Given the description of an element on the screen output the (x, y) to click on. 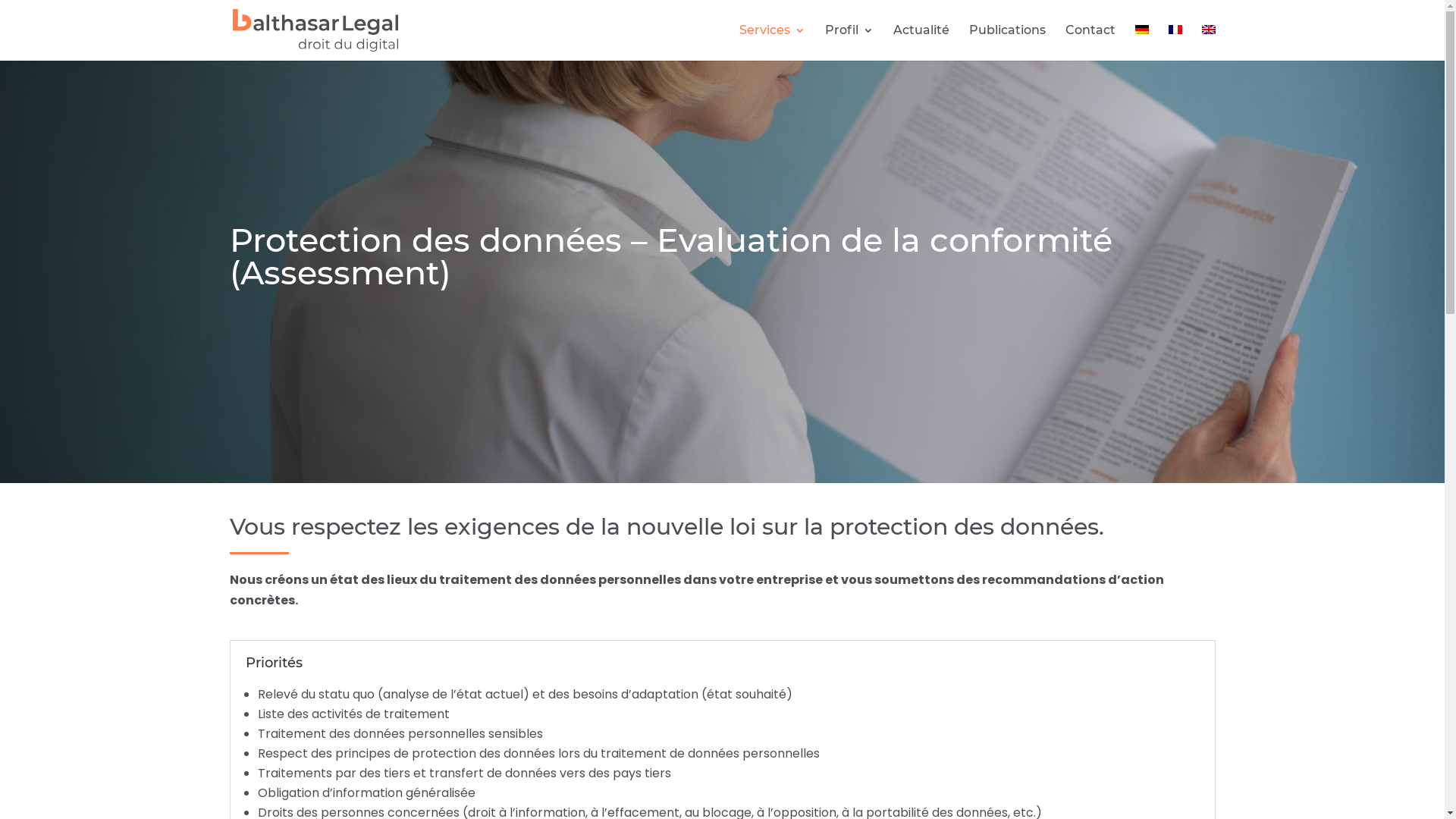
Profil Element type: text (849, 42)
Services Element type: text (771, 42)
Contact Element type: text (1089, 42)
Publications Element type: text (1007, 42)
